Given the description of an element on the screen output the (x, y) to click on. 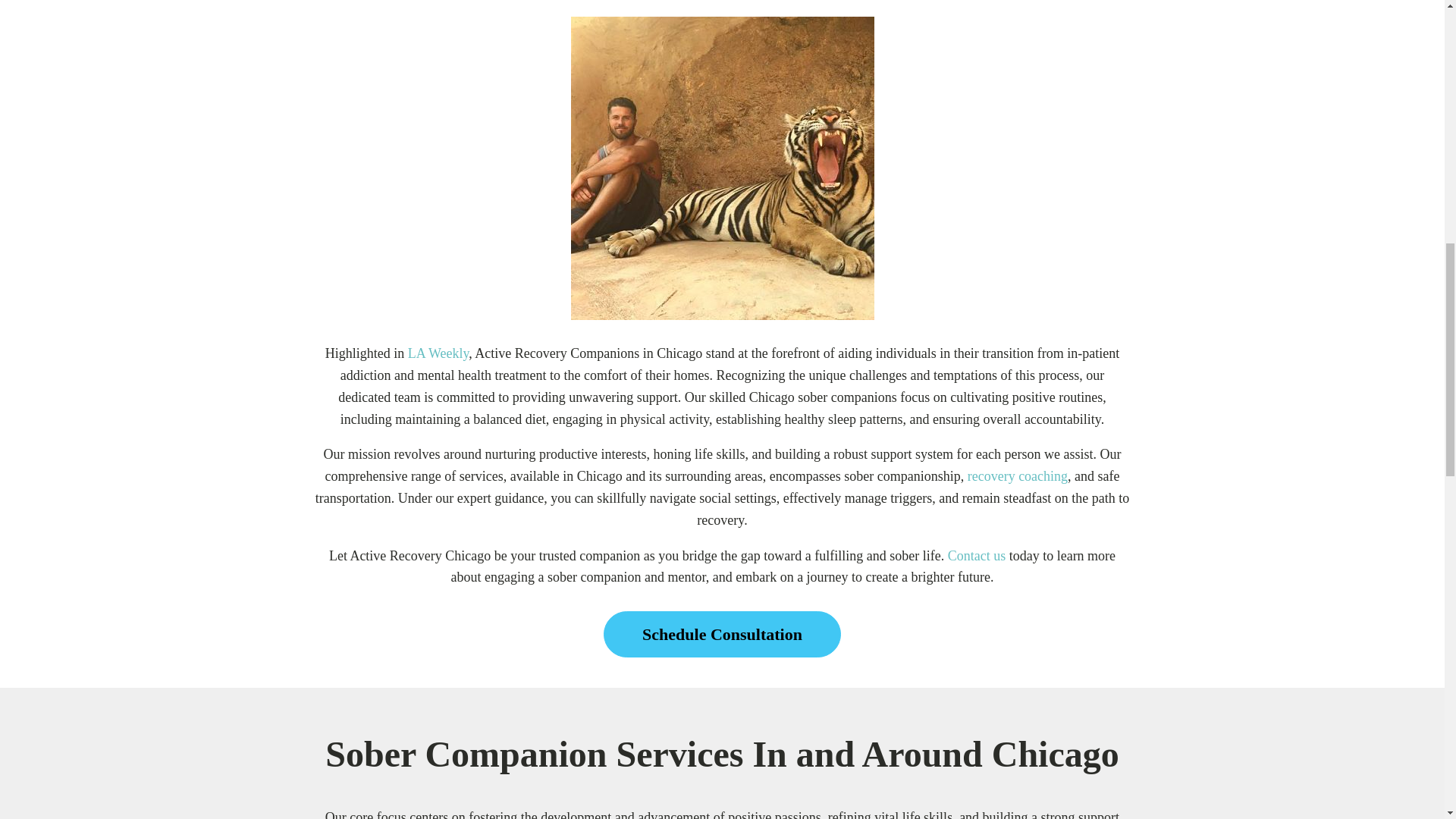
recovery coaching (1017, 476)
Contact us (976, 555)
LA Weekly (437, 353)
Schedule Consultation (722, 633)
